Given the description of an element on the screen output the (x, y) to click on. 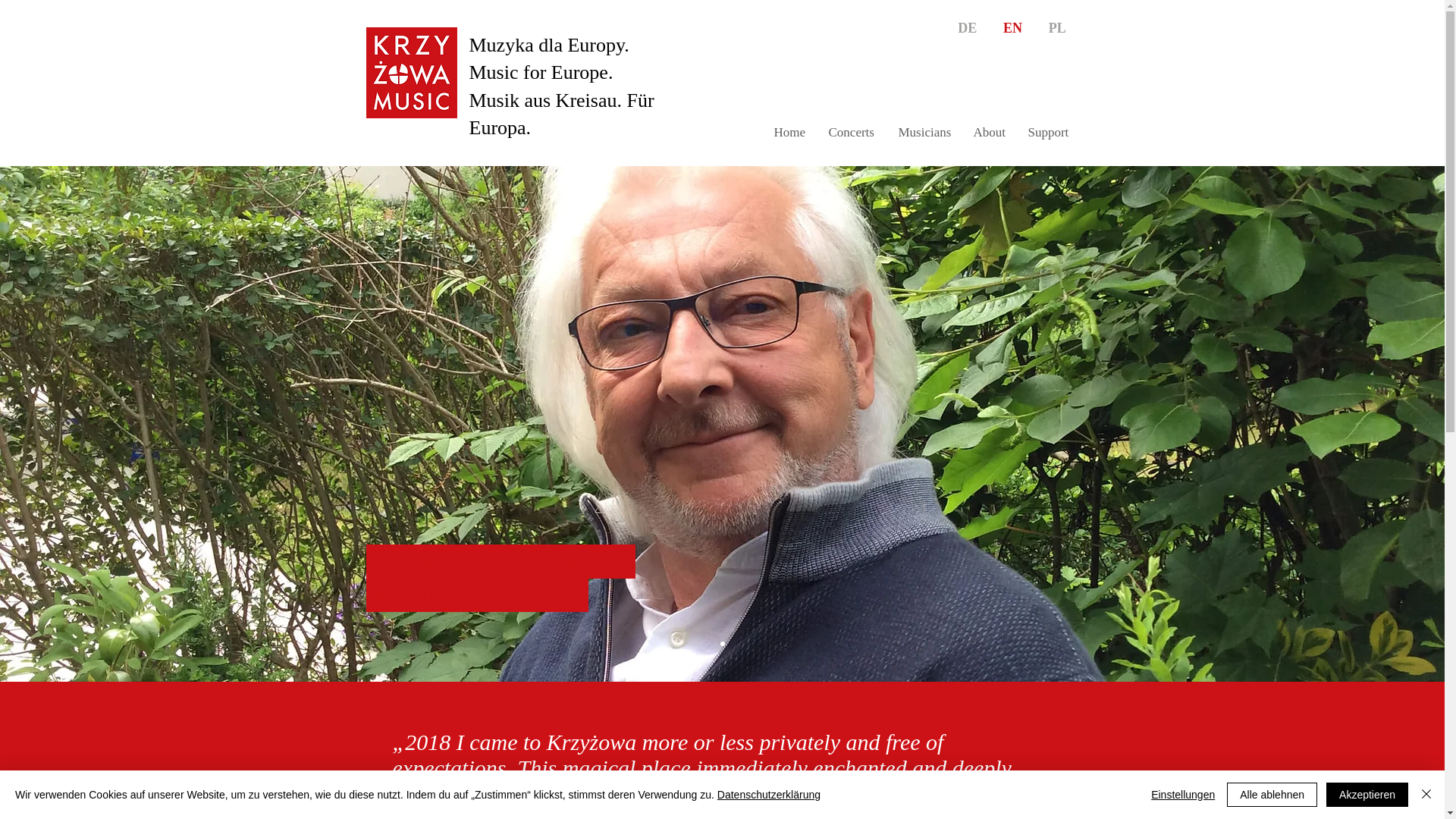
PL (1056, 28)
Support (1048, 132)
EN (1012, 28)
DE (967, 28)
About (988, 132)
Concerts (851, 132)
Home (789, 132)
Musicians (924, 132)
